Given the description of an element on the screen output the (x, y) to click on. 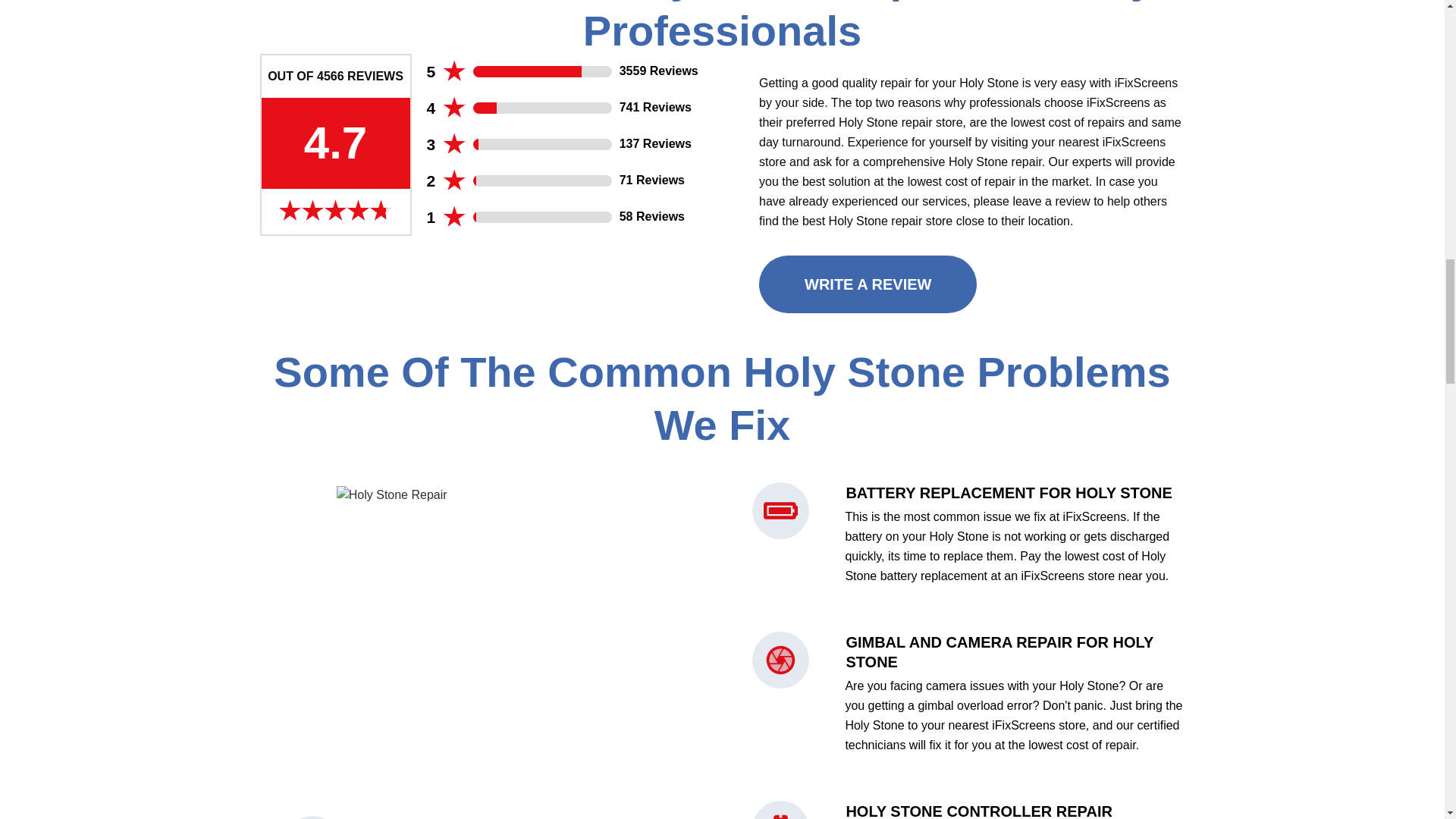
Holy-Stone (488, 636)
